Given the description of an element on the screen output the (x, y) to click on. 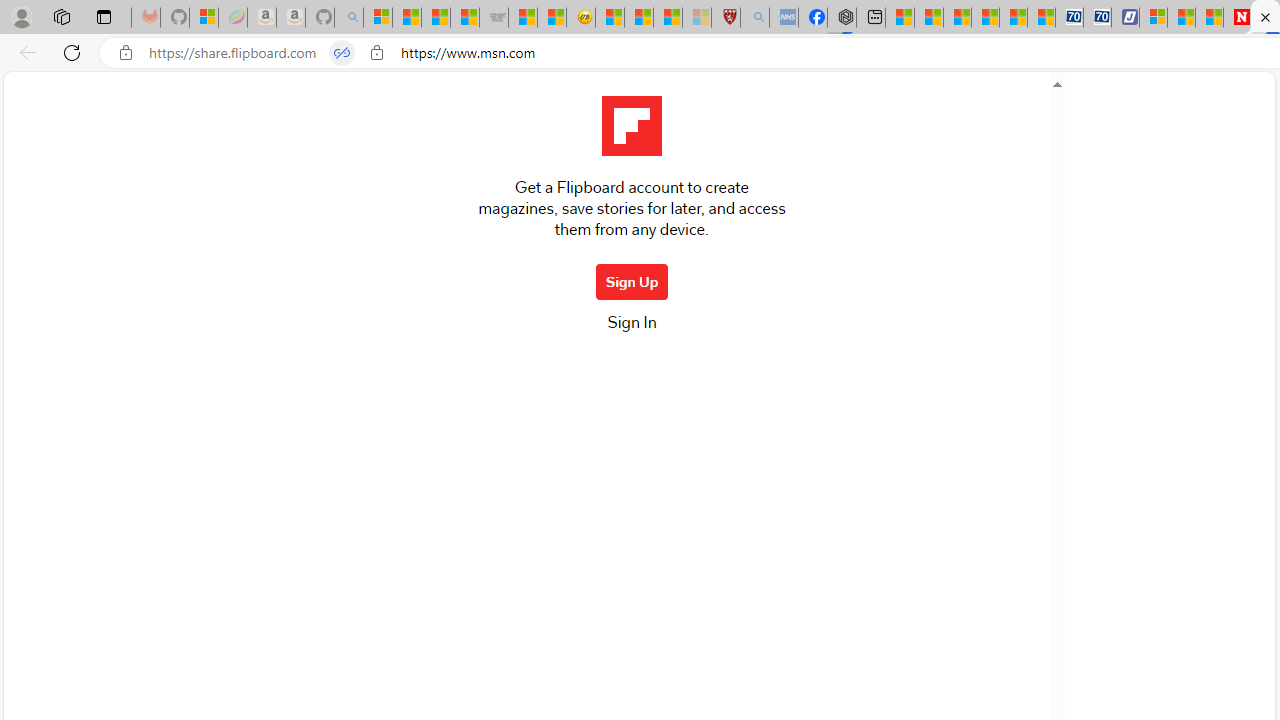
12 Popular Science Lies that Must be Corrected - Sleeping (696, 17)
Science - MSN (668, 17)
Recipes - MSN (610, 17)
Cheap Hotels - Save70.com (1097, 17)
Tabs in split screen (341, 53)
Microsoft-Report a Concern to Bing (203, 17)
NCL Adult Asthma Inhaler Choice Guideline - Sleeping (783, 17)
